Given the description of an element on the screen output the (x, y) to click on. 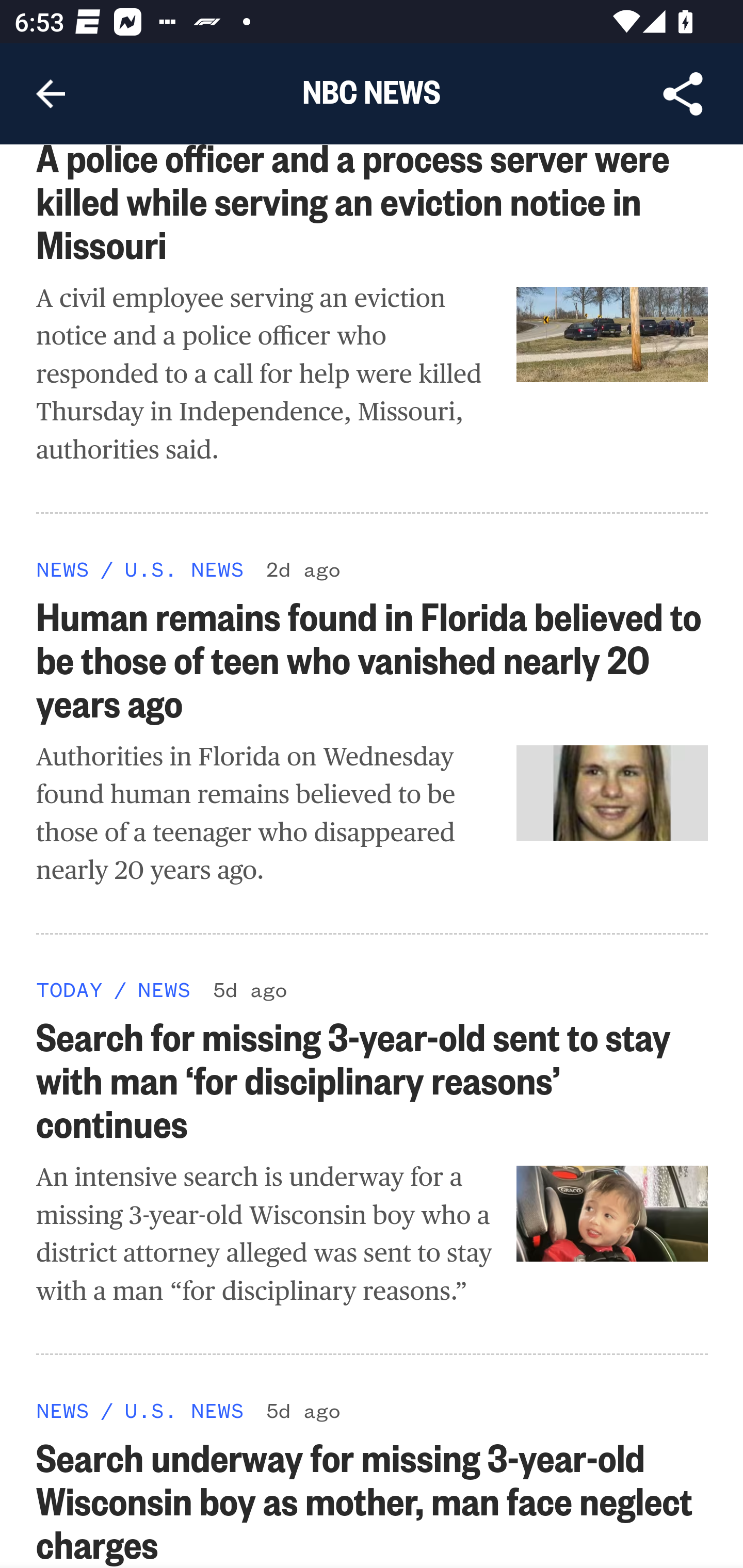
Navigate up (50, 93)
Share Article, button (683, 94)
NEWS NEWS NEWS (63, 568)
U.S. NEWS U.S. NEWS U.S. NEWS (183, 568)
TODAY TODAY TODAY (69, 989)
NEWS NEWS NEWS (164, 989)
NEWS NEWS NEWS (63, 1409)
U.S. NEWS U.S. NEWS U.S. NEWS (183, 1409)
